Given the description of an element on the screen output the (x, y) to click on. 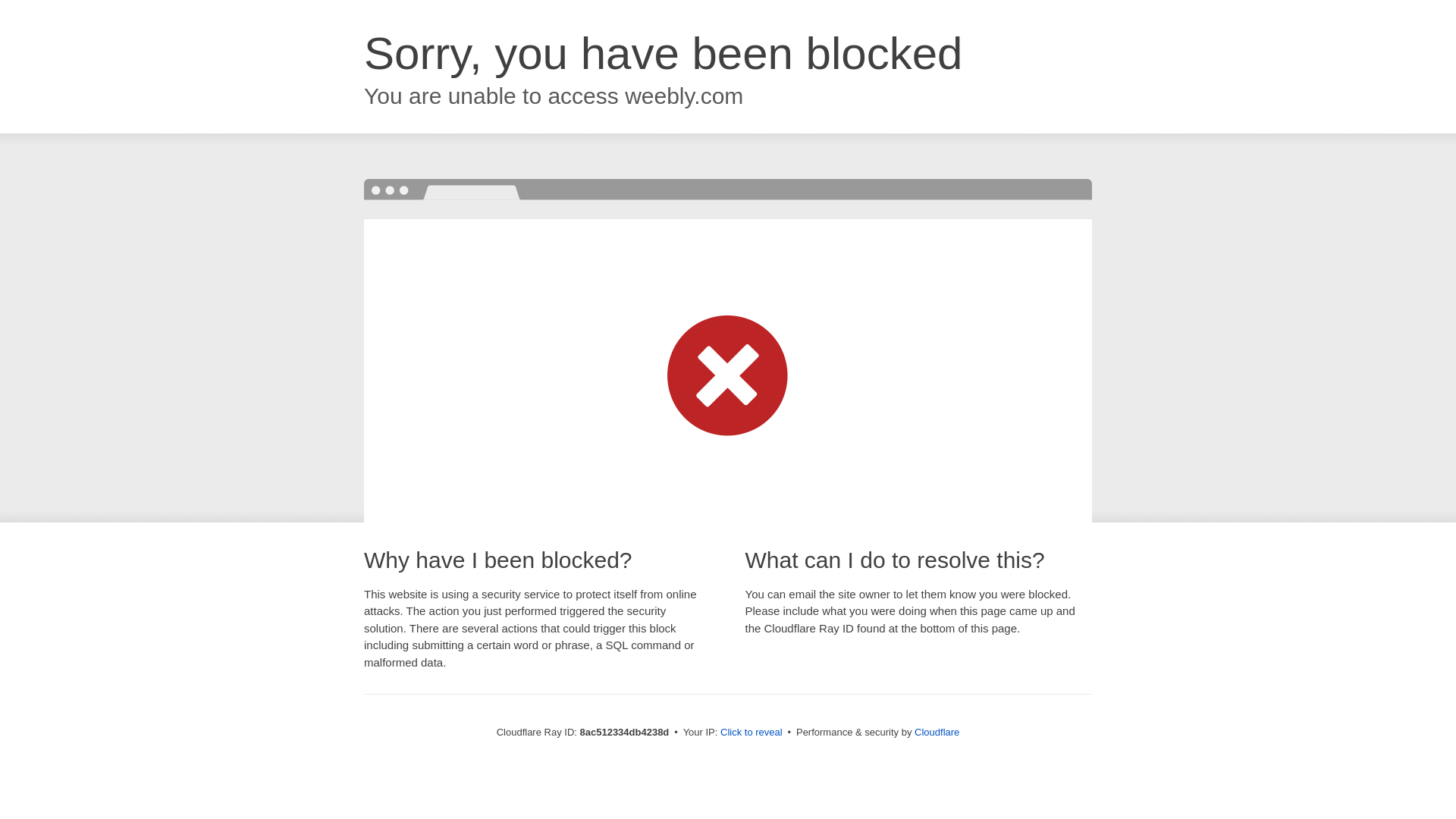
Click to reveal (751, 732)
Cloudflare (936, 731)
